Given the description of an element on the screen output the (x, y) to click on. 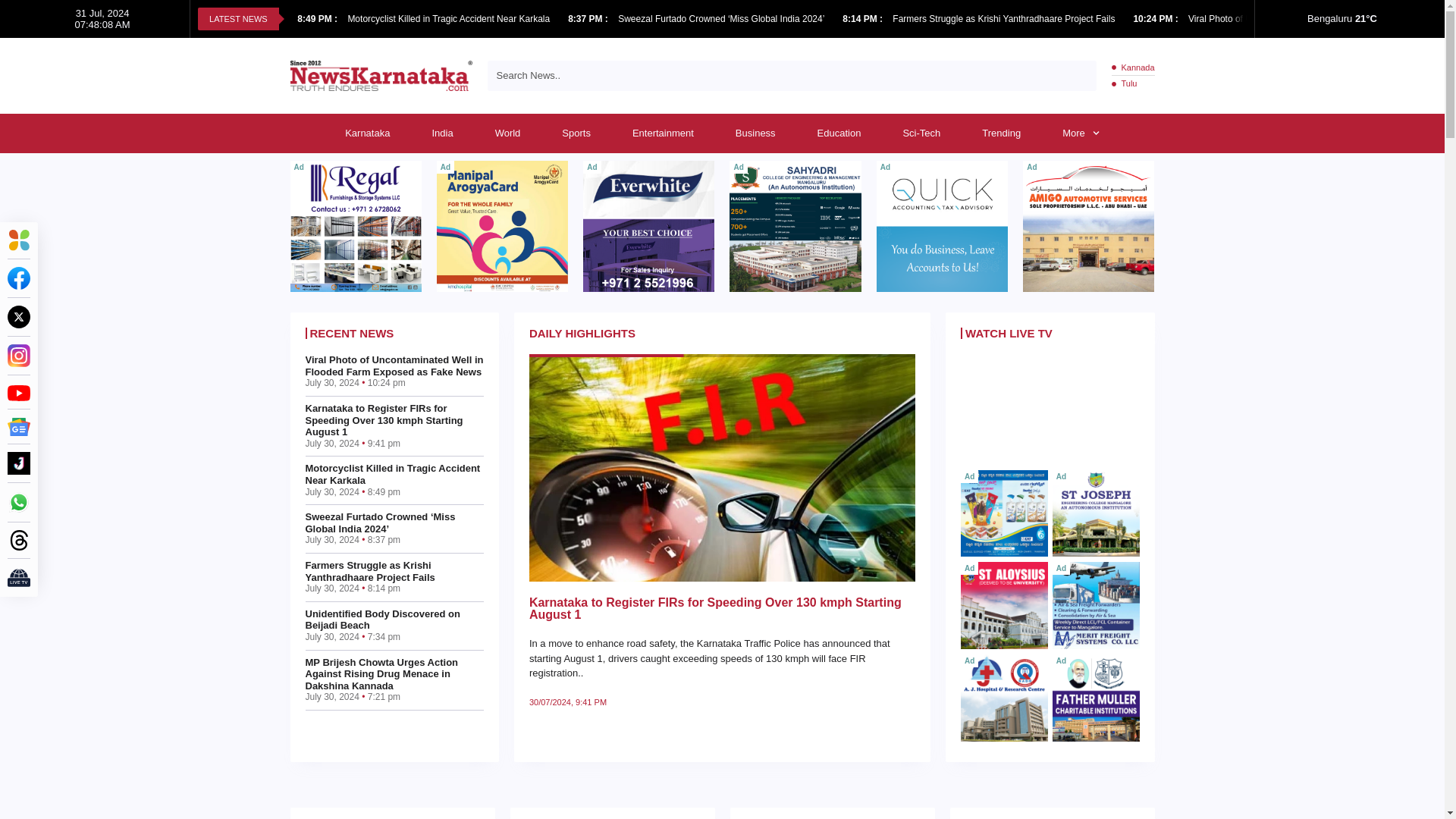
Published on: July 30, 2024 10:24 pm (1156, 18)
Published on: July 30, 2024 8:37 pm (588, 18)
Published on: July 30, 2024 8:14 pm (864, 18)
Published on: July 30, 2024 8:49 pm (318, 18)
